Given the description of an element on the screen output the (x, y) to click on. 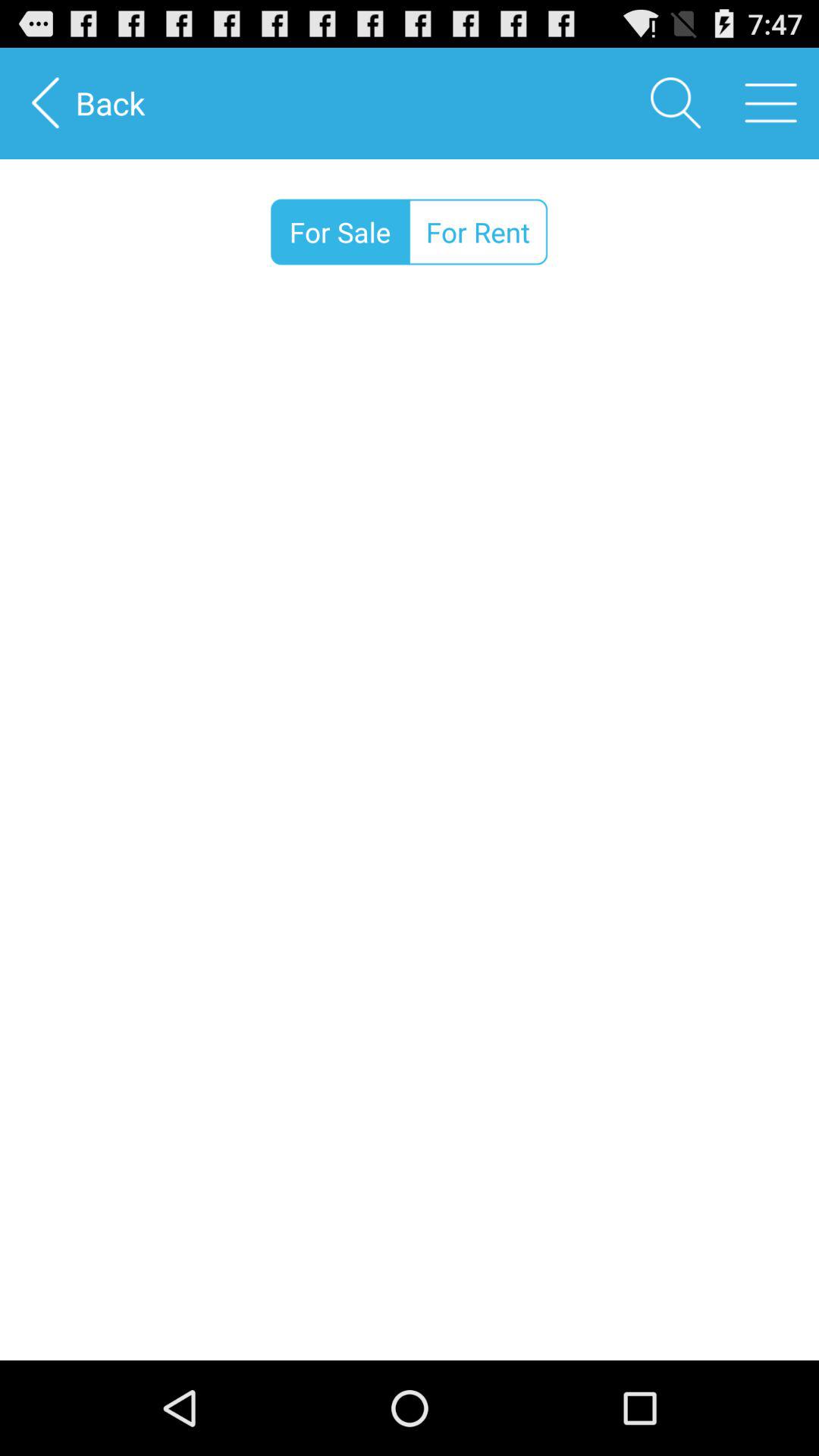
turn on the for rent item (477, 232)
